Given the description of an element on the screen output the (x, y) to click on. 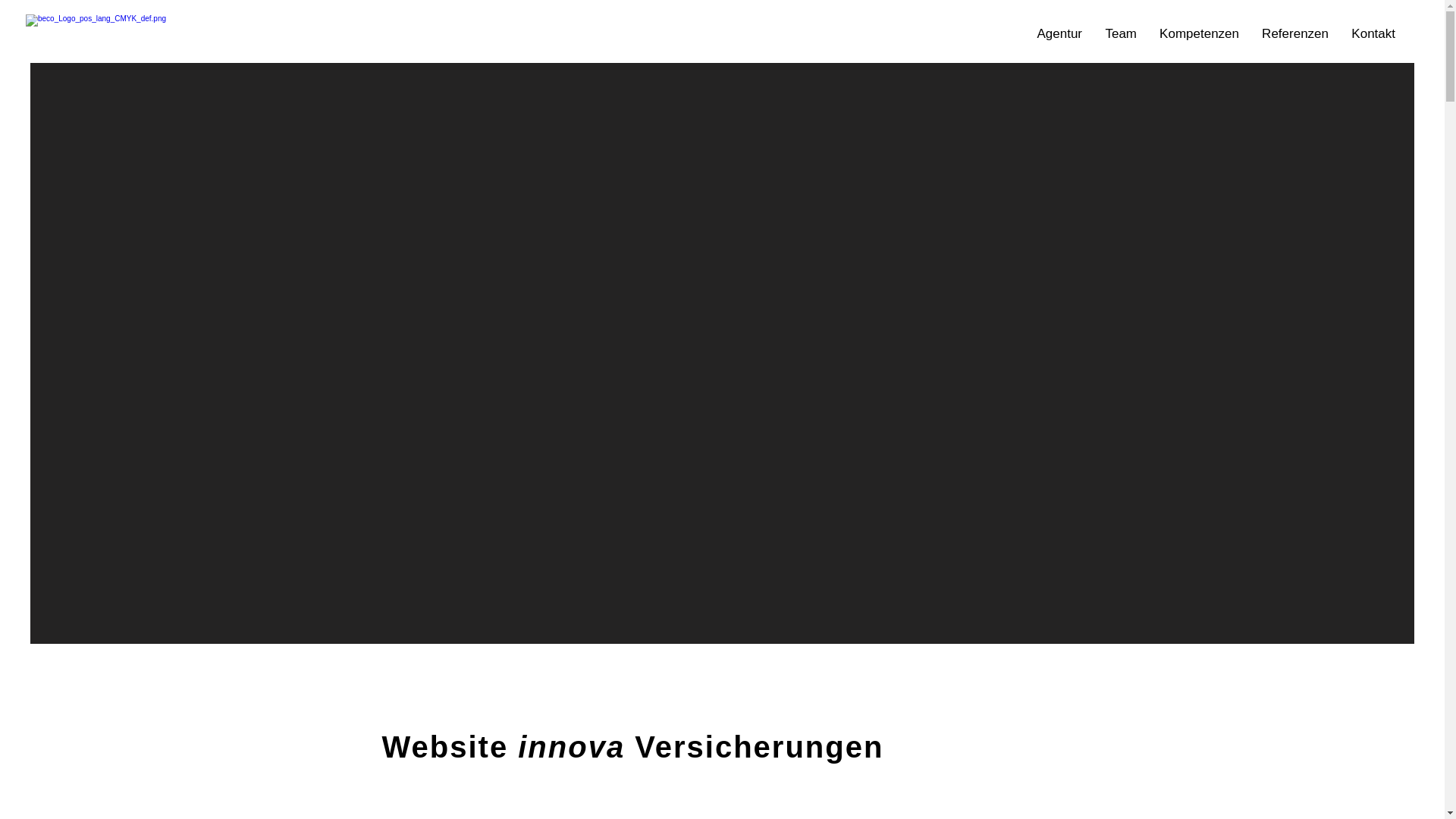
Kontakt Element type: text (1372, 34)
Agentur Element type: text (1059, 34)
Kompetenzen Element type: text (1199, 34)
Team Element type: text (1120, 34)
Referenzen Element type: text (1294, 34)
